Given the description of an element on the screen output the (x, y) to click on. 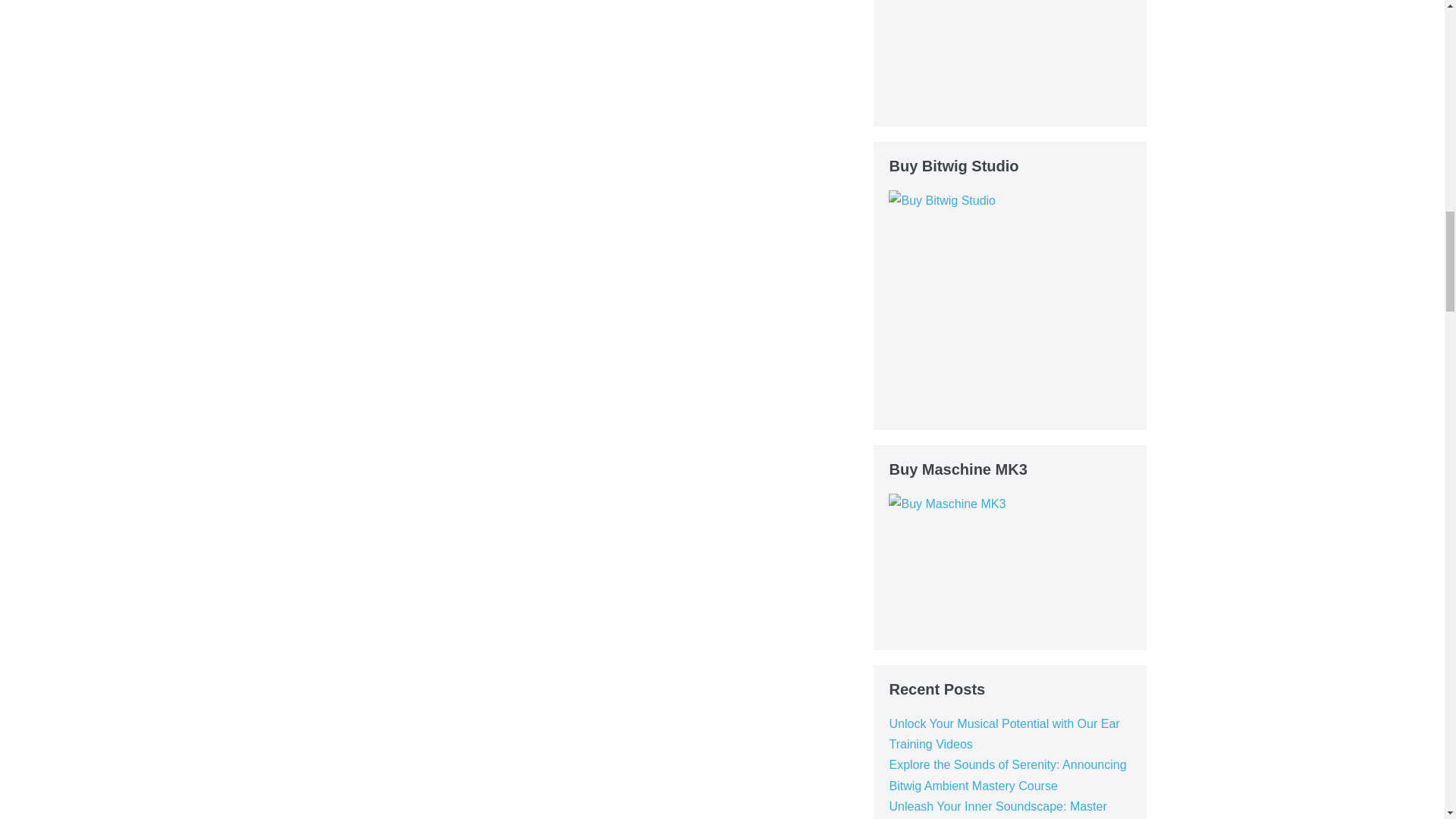
Buy Maschine MK3 (983, 563)
Buy Phase Plant (1002, 55)
Unlock Your Musical Potential with Our Ear Training Videos (1003, 734)
Buy Bitwig Studio (1002, 302)
